Given the description of an element on the screen output the (x, y) to click on. 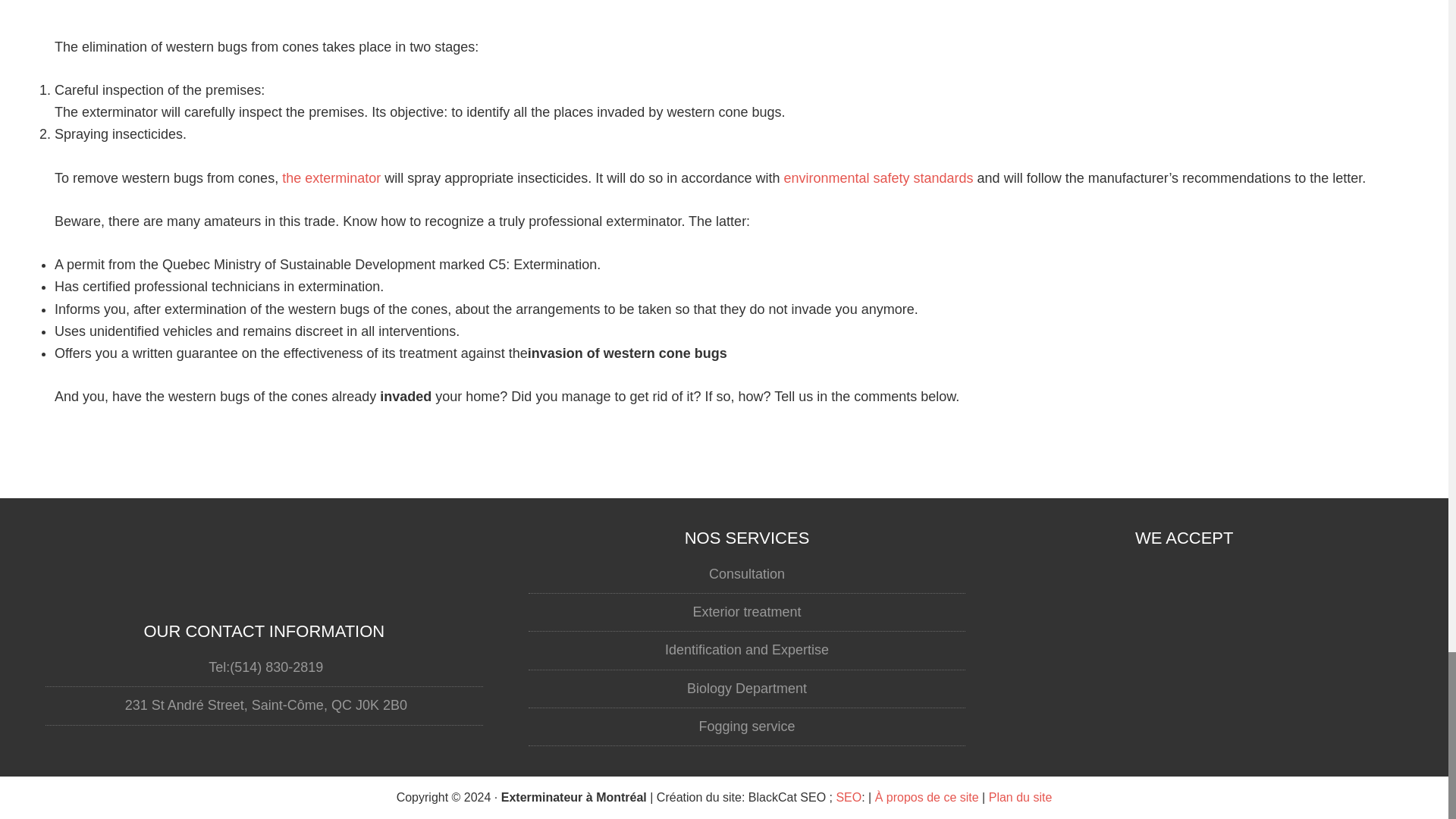
Plan du site (1020, 797)
interac (1184, 719)
Biology Department (746, 688)
SEO (848, 797)
 Visa (1185, 586)
Exterior treatment (746, 611)
Consultation (746, 573)
mastercard (1185, 653)
the exterminator (331, 177)
Identification and Expertise (746, 649)
environmental safety standards (877, 177)
Fogging service (746, 726)
